Given the description of an element on the screen output the (x, y) to click on. 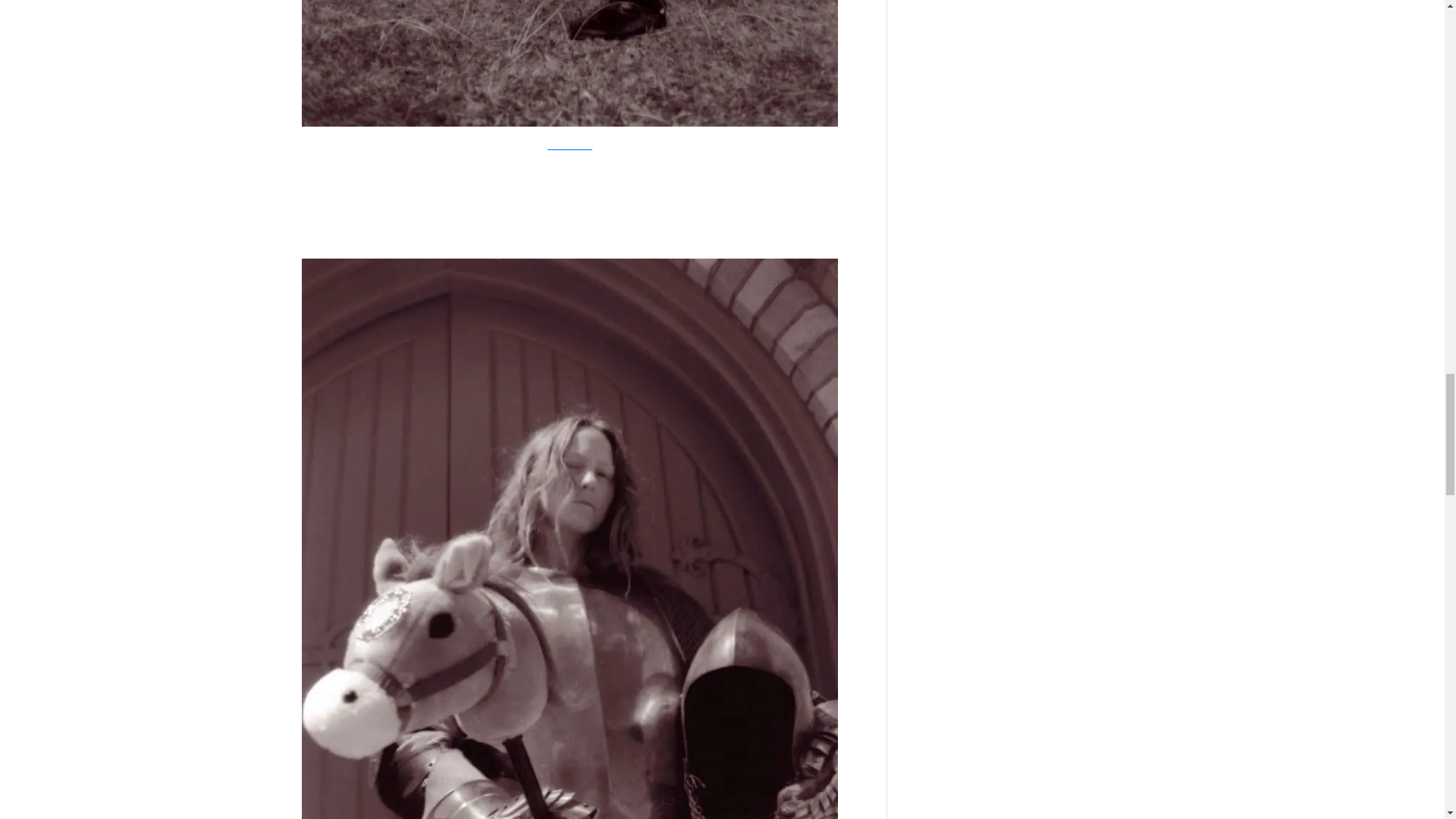
DarkHorseStudio (569, 142)
